Given the description of an element on the screen output the (x, y) to click on. 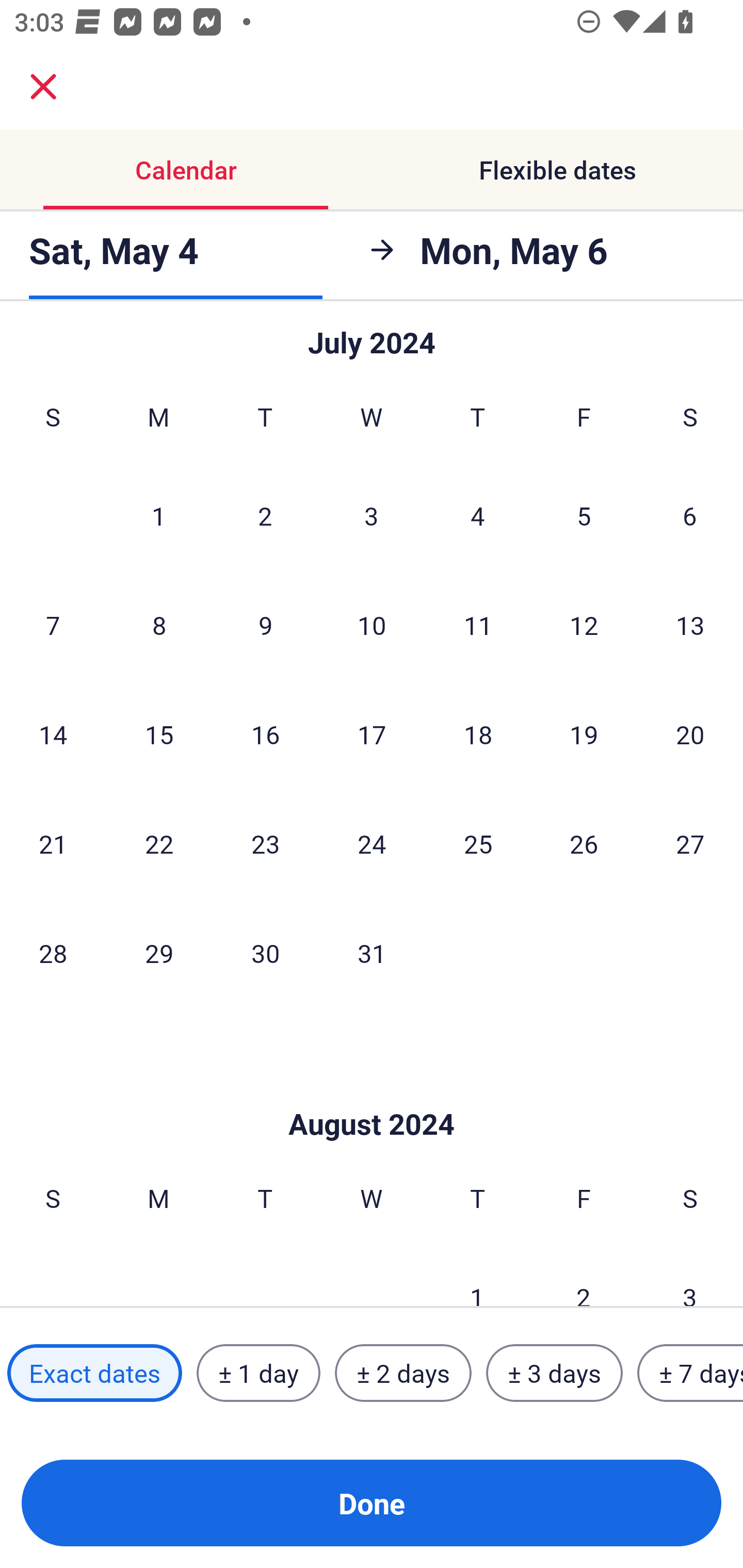
close. (43, 86)
Flexible dates (557, 170)
1 Monday, July 1, 2024 (158, 514)
2 Tuesday, July 2, 2024 (264, 514)
3 Wednesday, July 3, 2024 (371, 514)
4 Thursday, July 4, 2024 (477, 514)
5 Friday, July 5, 2024 (583, 514)
6 Saturday, July 6, 2024 (689, 514)
7 Sunday, July 7, 2024 (53, 624)
8 Monday, July 8, 2024 (159, 624)
9 Tuesday, July 9, 2024 (265, 624)
10 Wednesday, July 10, 2024 (371, 624)
11 Thursday, July 11, 2024 (477, 624)
12 Friday, July 12, 2024 (584, 624)
13 Saturday, July 13, 2024 (690, 624)
14 Sunday, July 14, 2024 (53, 734)
15 Monday, July 15, 2024 (159, 734)
16 Tuesday, July 16, 2024 (265, 734)
17 Wednesday, July 17, 2024 (371, 734)
18 Thursday, July 18, 2024 (477, 734)
19 Friday, July 19, 2024 (584, 734)
20 Saturday, July 20, 2024 (690, 734)
21 Sunday, July 21, 2024 (53, 843)
22 Monday, July 22, 2024 (159, 843)
23 Tuesday, July 23, 2024 (265, 843)
24 Wednesday, July 24, 2024 (371, 843)
25 Thursday, July 25, 2024 (477, 843)
26 Friday, July 26, 2024 (584, 843)
27 Saturday, July 27, 2024 (690, 843)
28 Sunday, July 28, 2024 (53, 952)
29 Monday, July 29, 2024 (159, 952)
30 Tuesday, July 30, 2024 (265, 952)
31 Wednesday, July 31, 2024 (371, 952)
Skip to Done (371, 1093)
1 Thursday, August 1, 2024 (477, 1274)
2 Friday, August 2, 2024 (583, 1274)
3 Saturday, August 3, 2024 (689, 1274)
Exact dates (94, 1372)
± 1 day (258, 1372)
± 2 days (403, 1372)
± 3 days (553, 1372)
± 7 days (690, 1372)
Done (371, 1502)
